Given the description of an element on the screen output the (x, y) to click on. 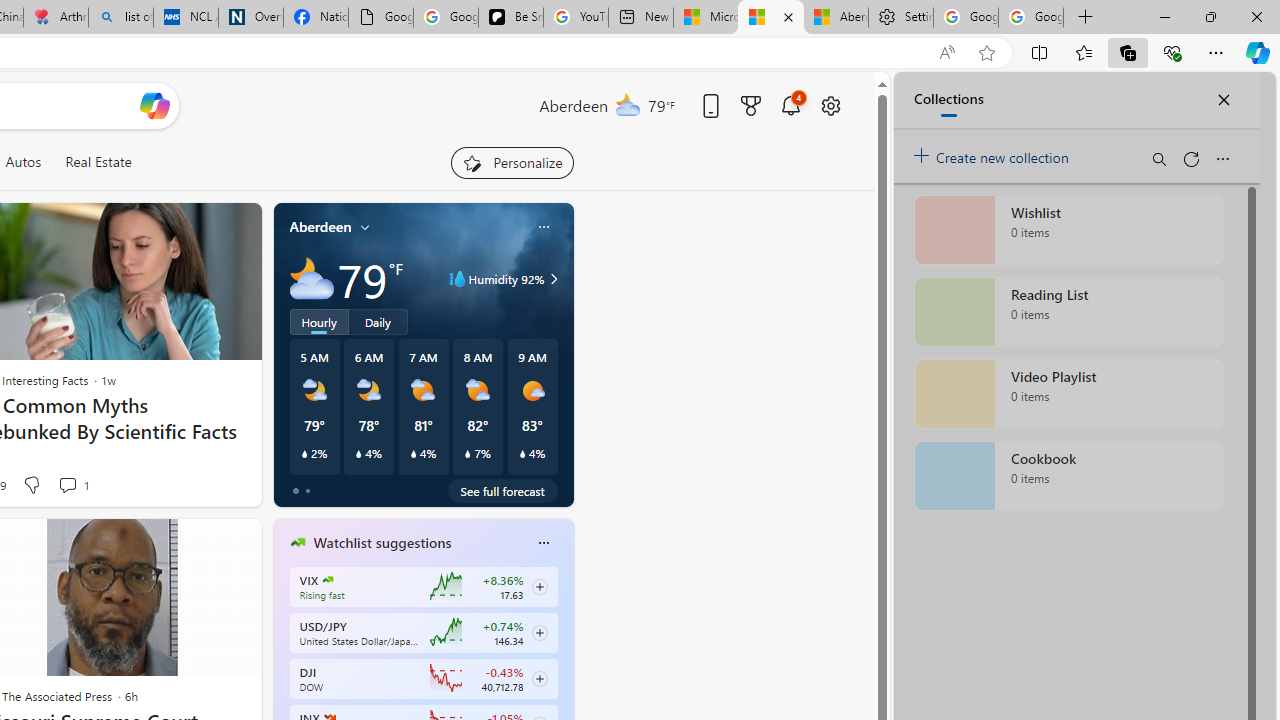
Humidity 92% (551, 278)
